Given the description of an element on the screen output the (x, y) to click on. 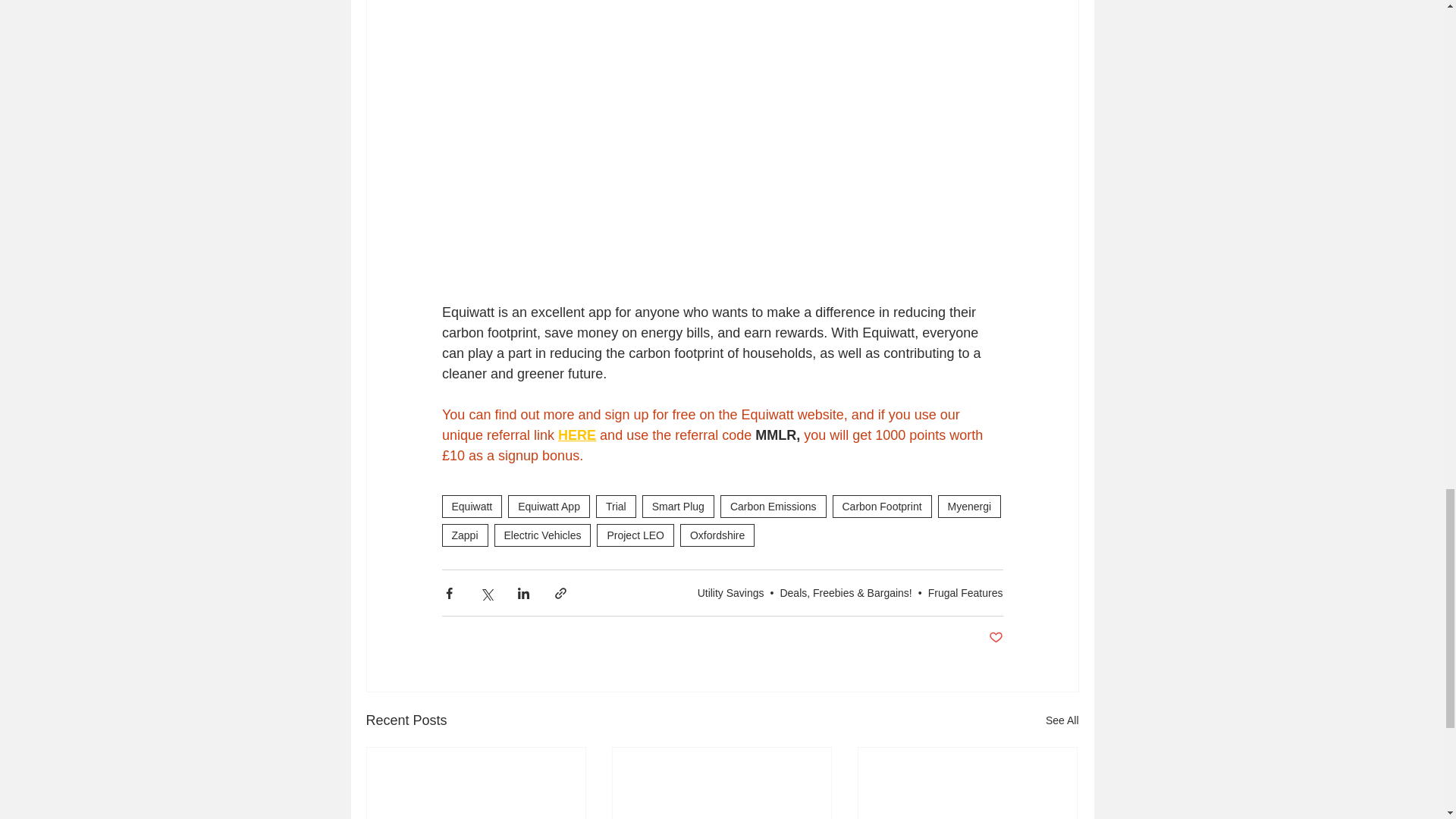
Trial (615, 506)
Equiwatt App (548, 506)
Equiwatt (471, 506)
HERE (576, 435)
